Given the description of an element on the screen output the (x, y) to click on. 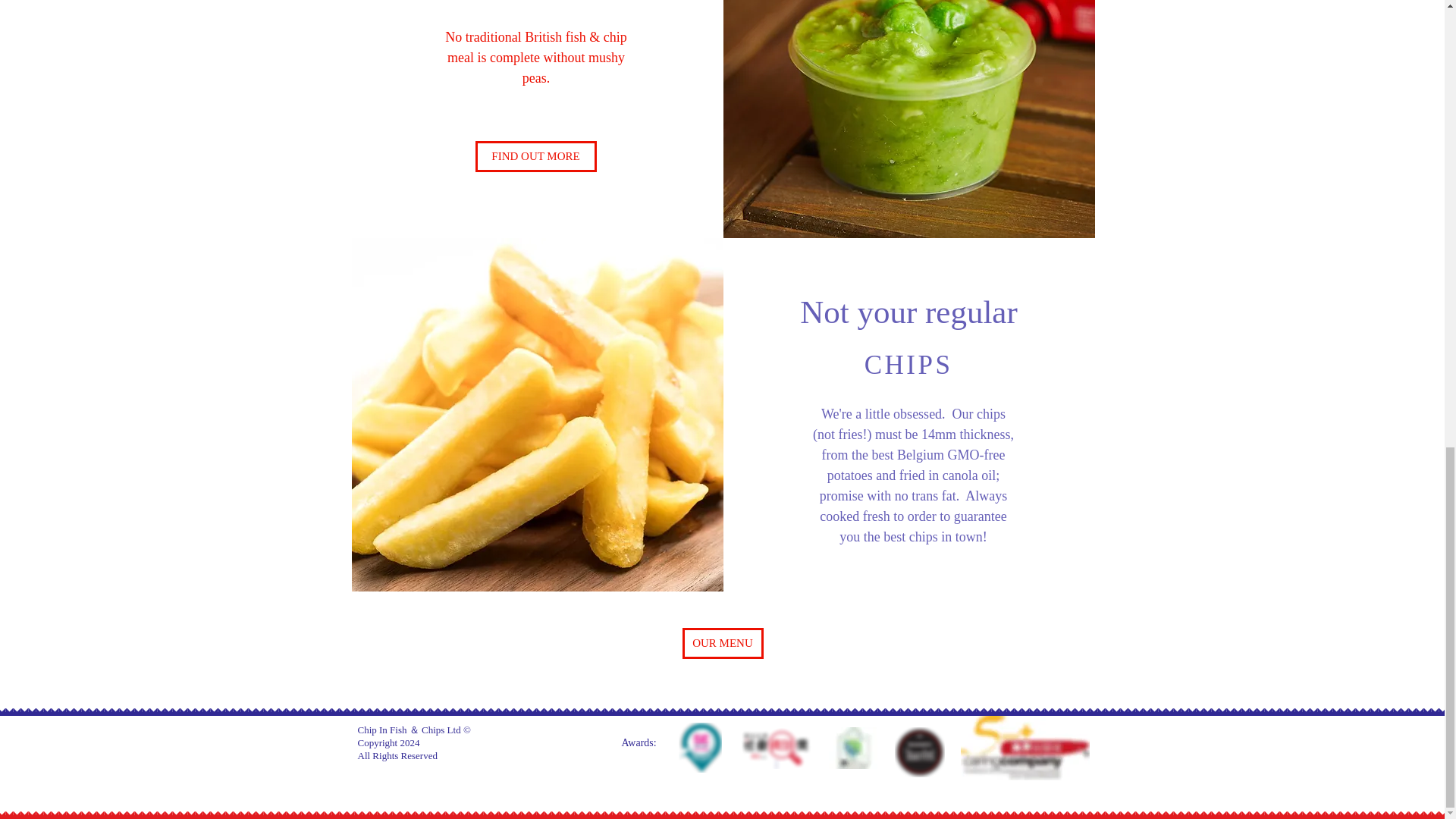
OUR MENU (722, 643)
FIND OUT MORE (534, 155)
